Given the description of an element on the screen output the (x, y) to click on. 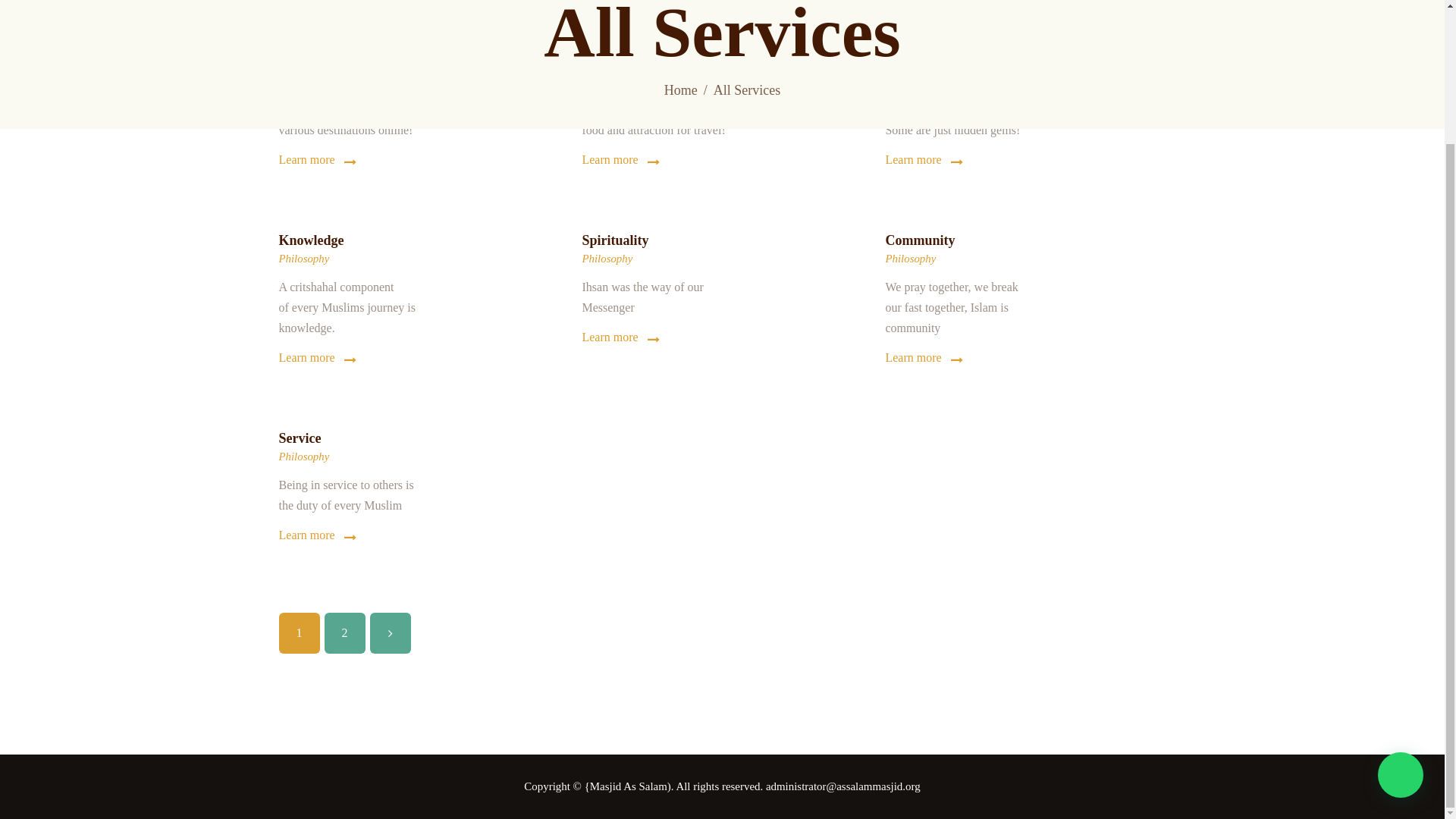
Home (680, 90)
View all posts in Tourism (903, 60)
View all posts in Philosophy (304, 258)
View all posts in Philosophy (910, 258)
View all posts in Tourism (598, 60)
View all posts in Tourism (297, 60)
View all posts in Philosophy (304, 456)
View all posts in Philosophy (605, 258)
